Given the description of an element on the screen output the (x, y) to click on. 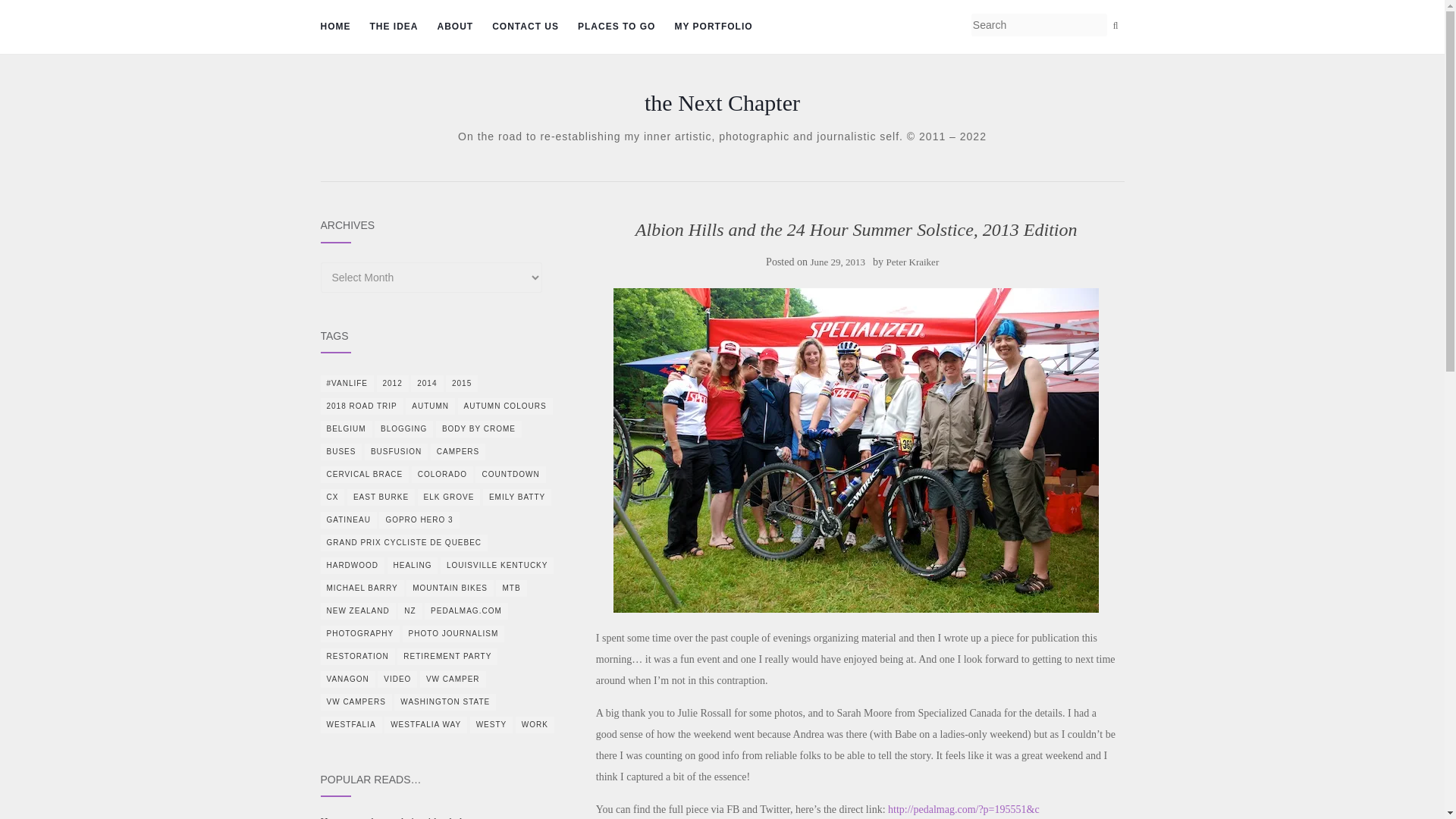
BODY BY CROME (478, 428)
the Next Chapter (722, 102)
PLACES TO GO (616, 27)
COUNTDOWN (510, 474)
The Idea (394, 27)
BUSFUSION (396, 451)
EAST BURKE (380, 497)
Peter Kraiker (912, 261)
2015 (461, 383)
CONTACT US (525, 27)
Places To Go (616, 27)
CERVICAL BRACE (364, 474)
AUTUMN COLOURS (505, 406)
AUTUMN (430, 406)
2018 ROAD TRIP (361, 406)
